Given the description of an element on the screen output the (x, y) to click on. 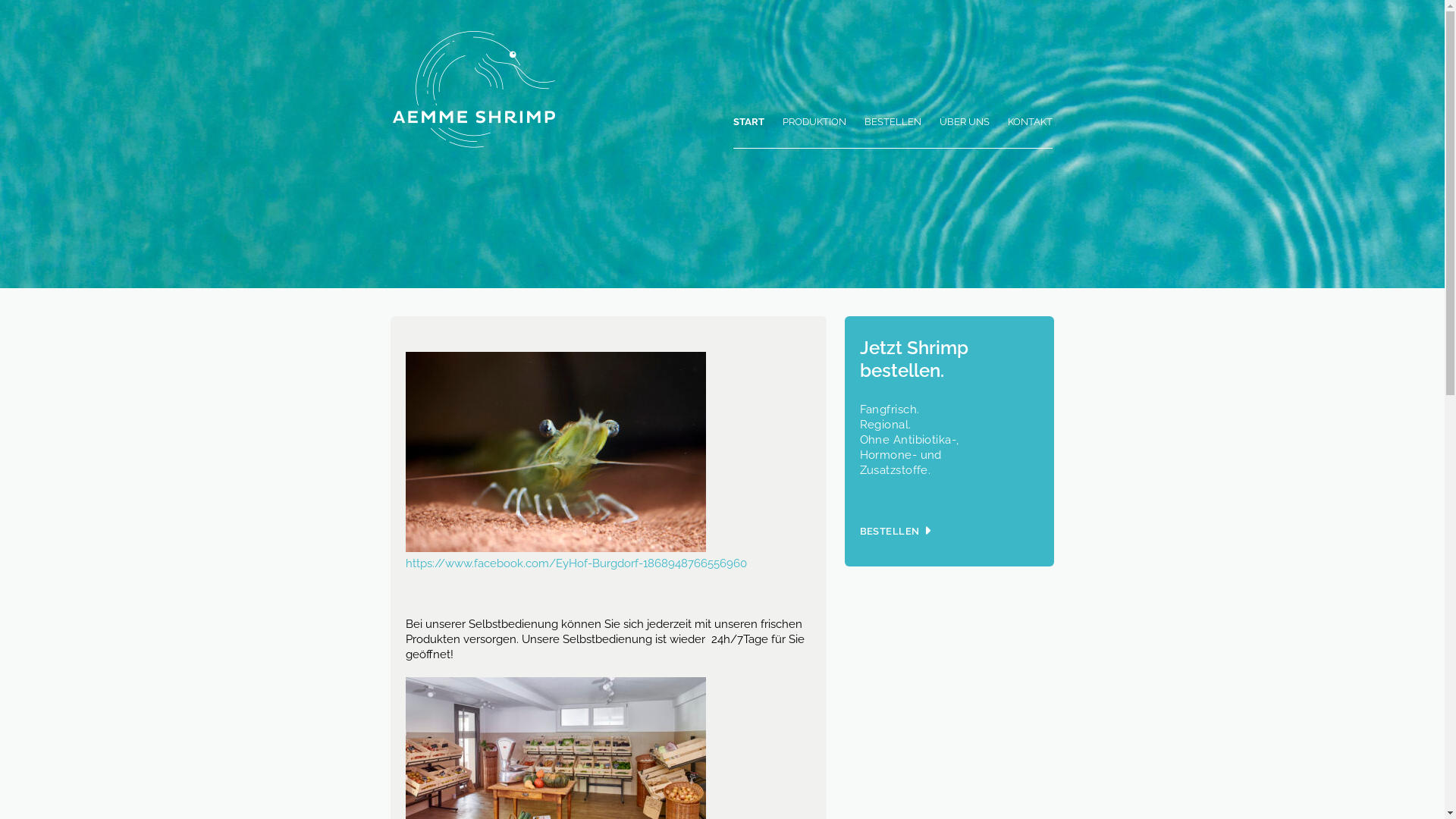
KONTAKT Element type: text (1029, 131)
https://www.facebook.com/EyHof-Burgdorf-1868948766556960 Element type: text (575, 563)
START Element type: text (747, 131)
BESTELLEN Element type: text (889, 530)
PRODUKTION Element type: text (814, 131)
BESTELLEN Element type: text (892, 131)
